Given the description of an element on the screen output the (x, y) to click on. 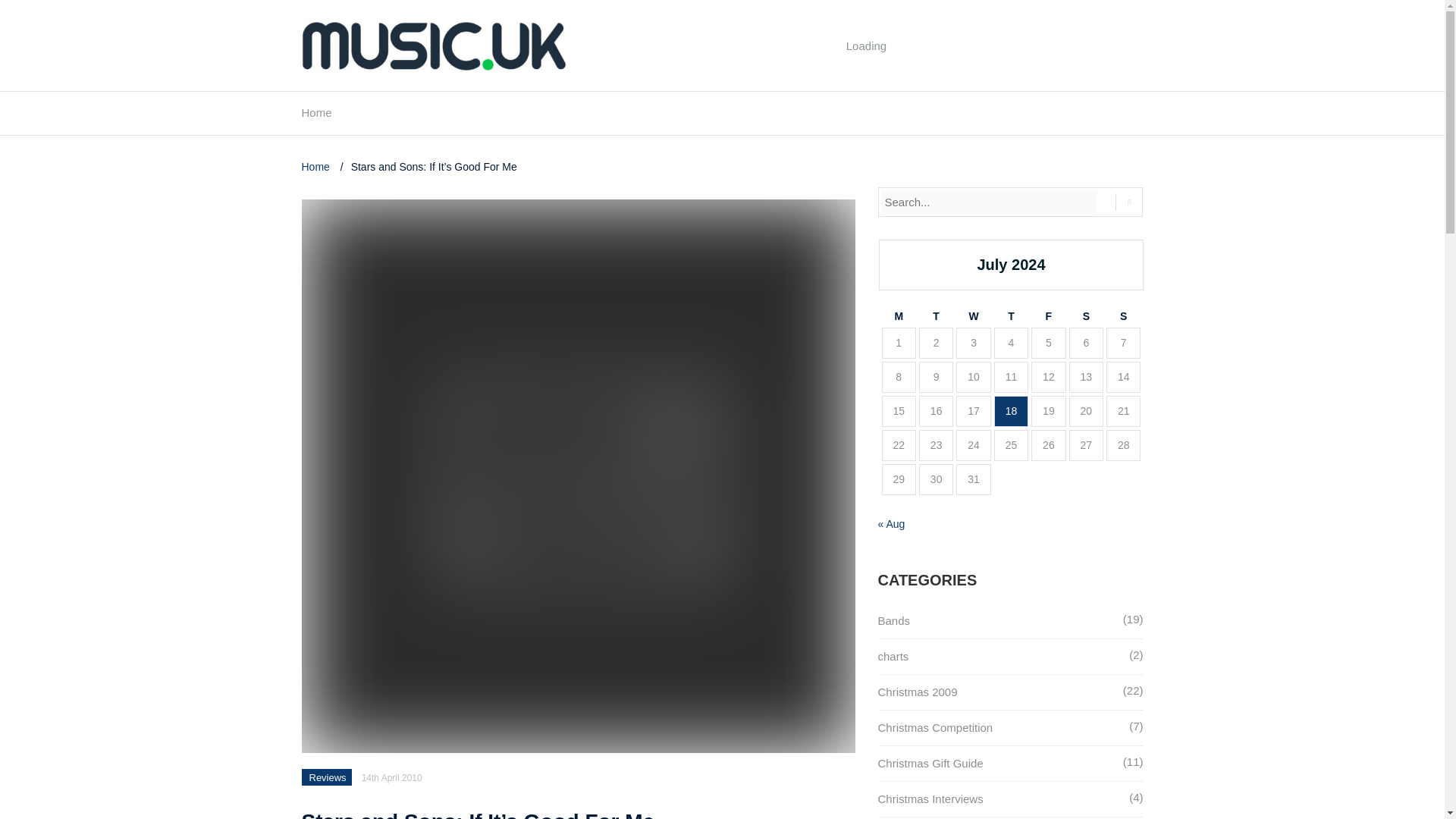
Monday (897, 316)
Advertisement (866, 80)
Christmas Competition (934, 727)
Wednesday (973, 316)
Search   (1128, 201)
Tuesday (935, 316)
Bands (894, 620)
Thursday (1010, 316)
Sunday (1123, 316)
Friday (1047, 316)
Home (316, 116)
Christmas 2009 (917, 691)
Christmas Interviews (930, 798)
Christmas Gift Guide (930, 762)
Reviews (327, 777)
